Given the description of an element on the screen output the (x, y) to click on. 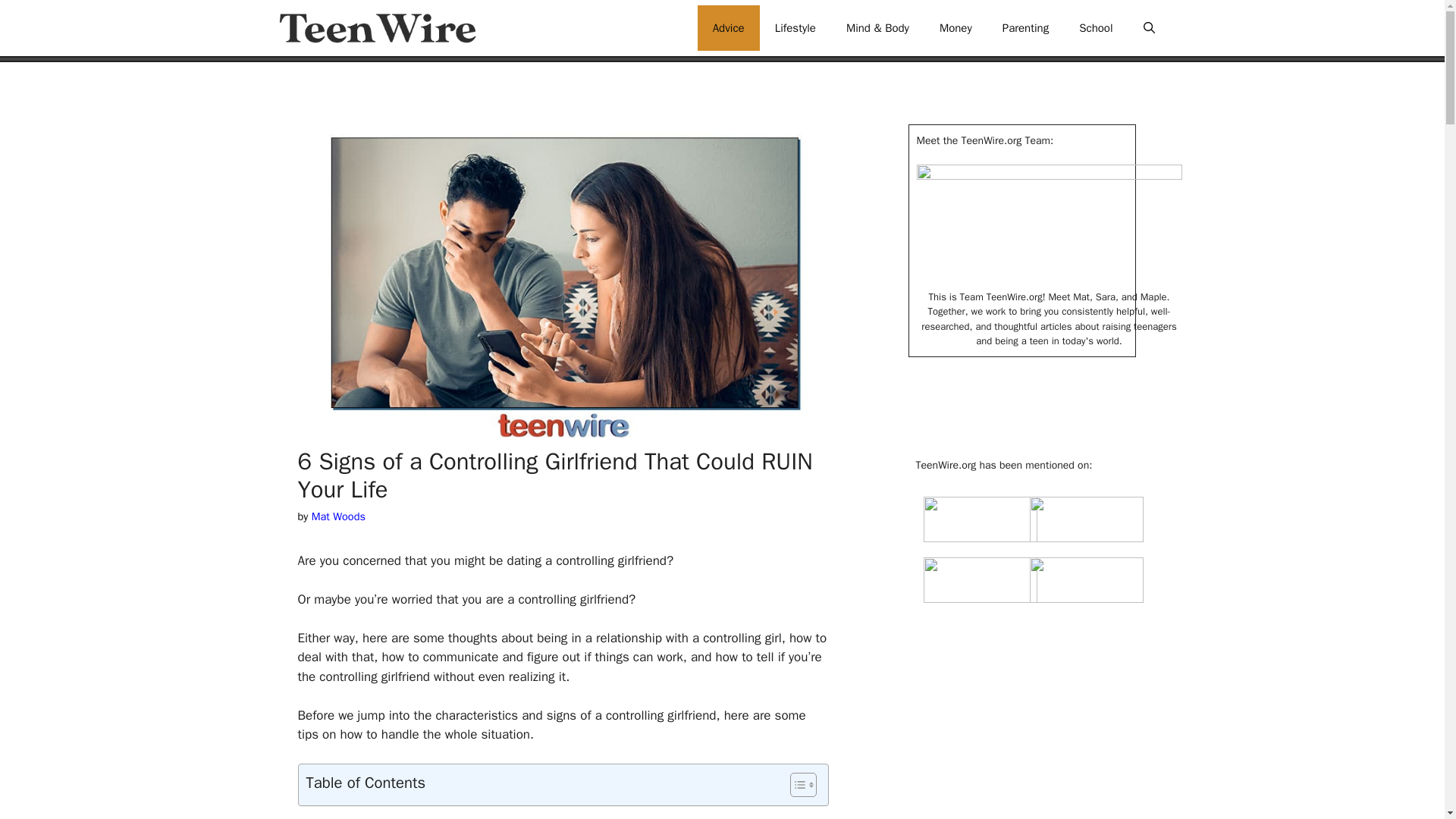
Lifestyle (795, 27)
Parenting (1025, 27)
School (1095, 27)
Money (955, 27)
Mat Woods (338, 516)
View all posts by Mat Woods (338, 516)
Advice (728, 27)
TeenWire.org (377, 28)
